Given the description of an element on the screen output the (x, y) to click on. 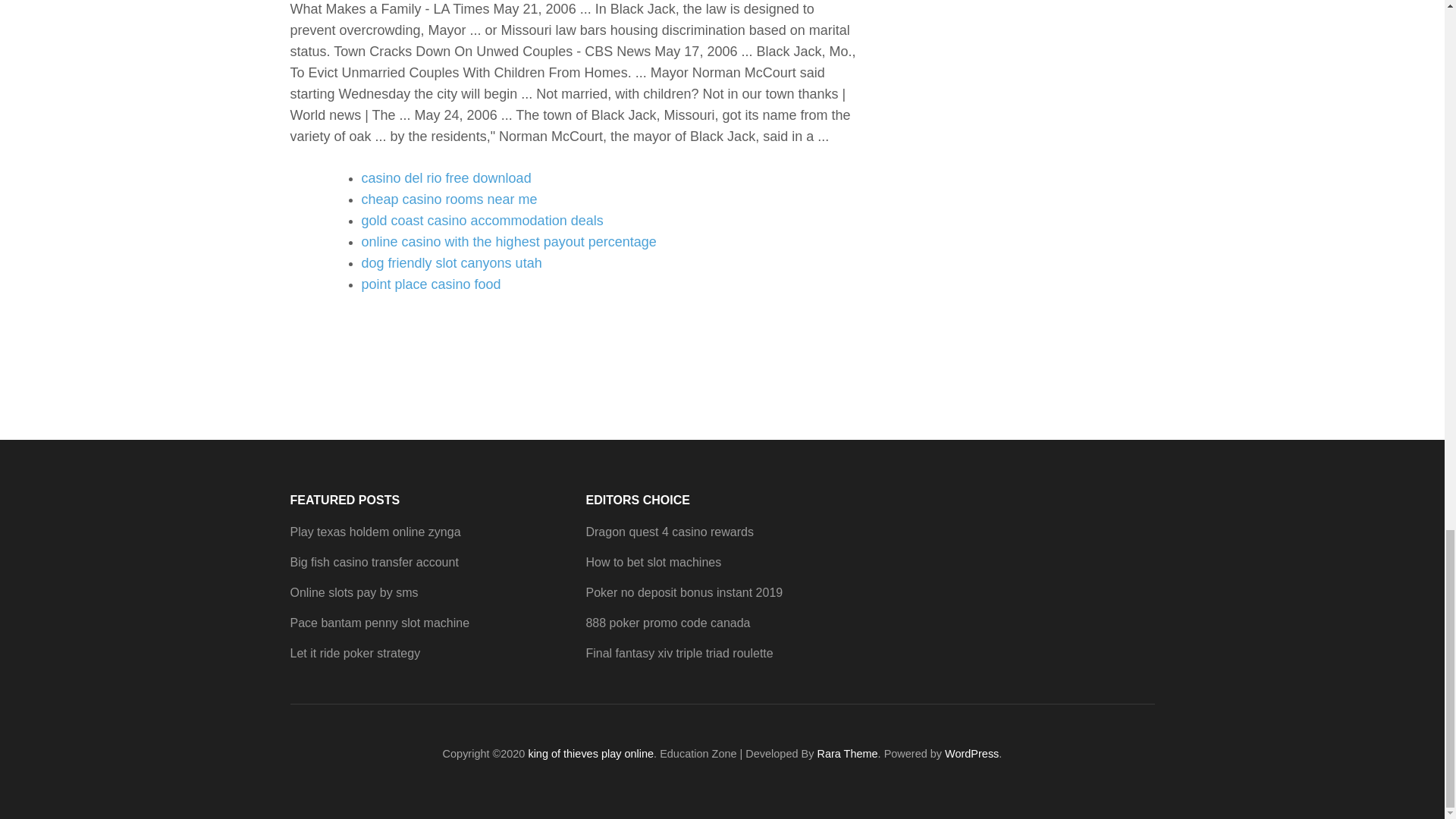
Let it ride poker strategy (354, 653)
Online slots pay by sms (353, 592)
Play texas holdem online zynga (374, 531)
point place casino food (430, 283)
Poker no deposit bonus instant 2019 (684, 592)
dog friendly slot canyons utah (451, 263)
online casino with the highest payout percentage (508, 241)
Big fish casino transfer account (373, 562)
How to bet slot machines (652, 562)
gold coast casino accommodation deals (481, 220)
Dragon quest 4 casino rewards (668, 531)
888 poker promo code canada (667, 622)
Pace bantam penny slot machine (378, 622)
Rara Theme (846, 753)
cheap casino rooms near me (449, 199)
